Given the description of an element on the screen output the (x, y) to click on. 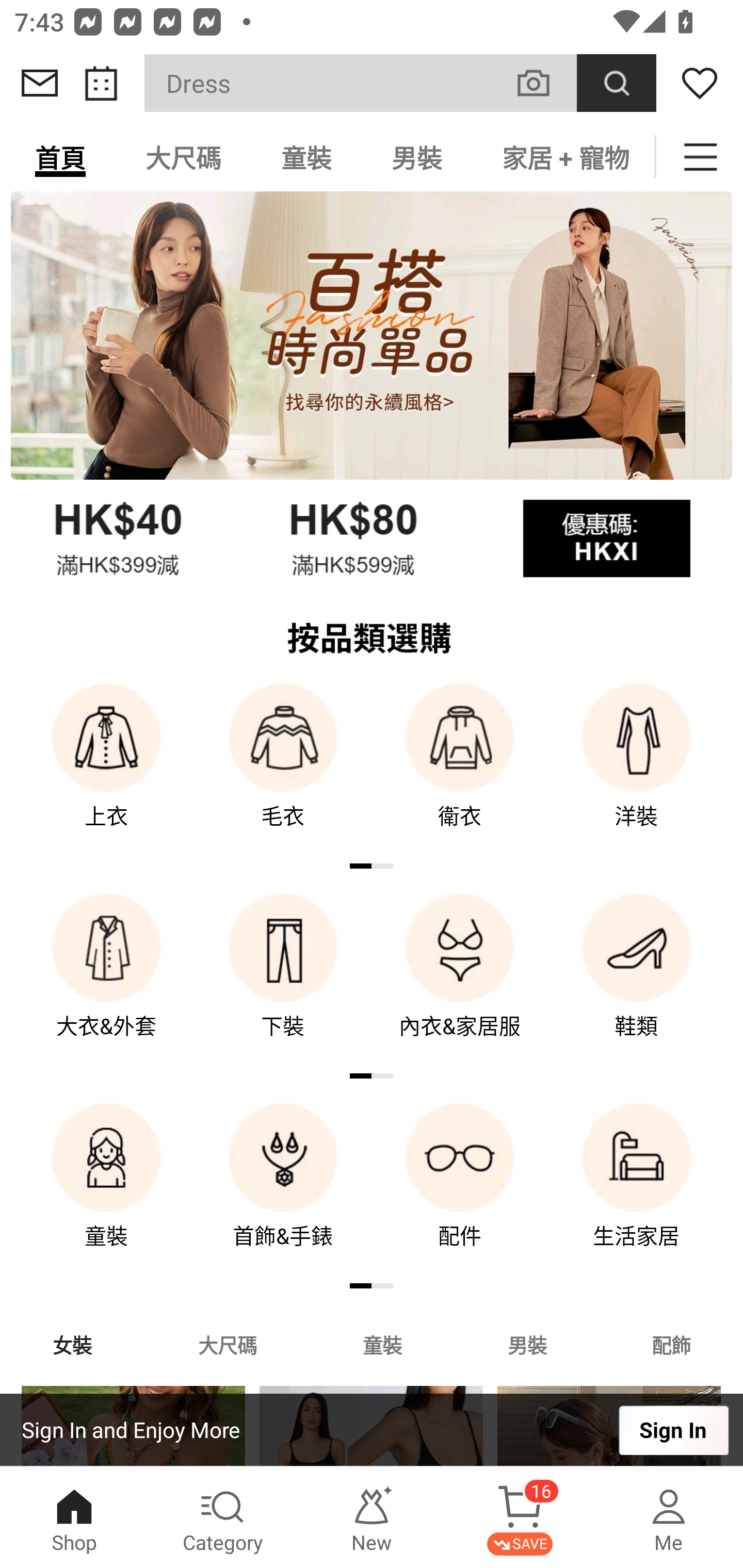
Wishlist (699, 82)
VISUAL SEARCH (543, 82)
首頁 (60, 156)
大尺碼 (183, 156)
童裝 (306, 156)
男裝 (416, 156)
家居 + 寵物 (563, 156)
上衣 (105, 769)
毛衣 (282, 769)
衛衣 (459, 769)
洋裝 (636, 769)
大衣&外套 (105, 979)
下裝 (282, 979)
內衣&家居服 (459, 979)
鞋類 (636, 979)
童裝 (105, 1189)
首飾&手錶 (282, 1189)
配件 (459, 1189)
生活家居 (636, 1189)
女裝 (72, 1344)
大尺碼 (226, 1344)
童裝 (381, 1344)
男裝 (527, 1344)
配飾 (671, 1344)
Sign In and Enjoy More Sign In (371, 1429)
Category (222, 1517)
New (371, 1517)
Cart 16 SAVE (519, 1517)
Me (668, 1517)
